Given the description of an element on the screen output the (x, y) to click on. 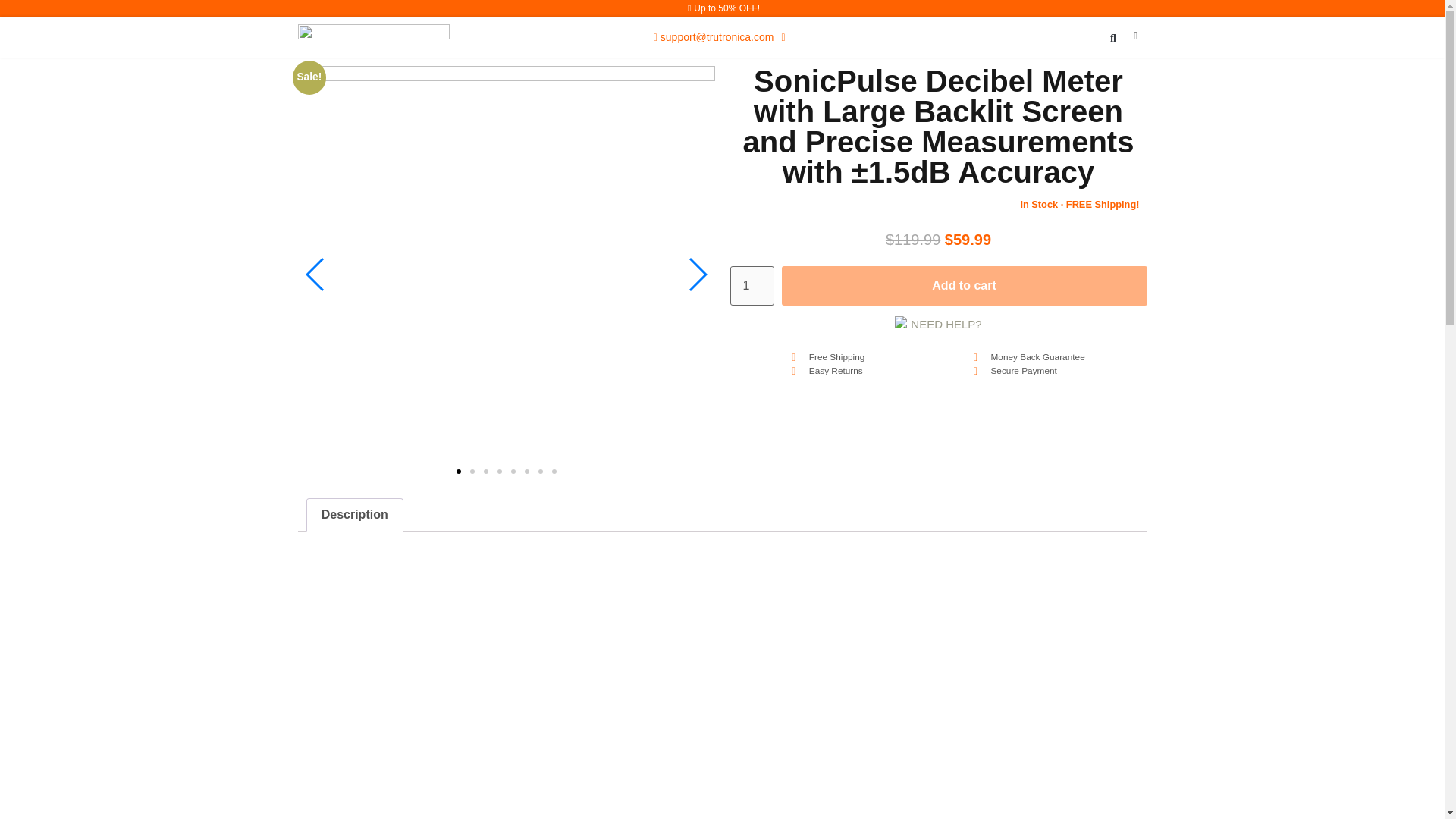
Description (353, 514)
1 (751, 285)
Add to cart (964, 285)
